Given the description of an element on the screen output the (x, y) to click on. 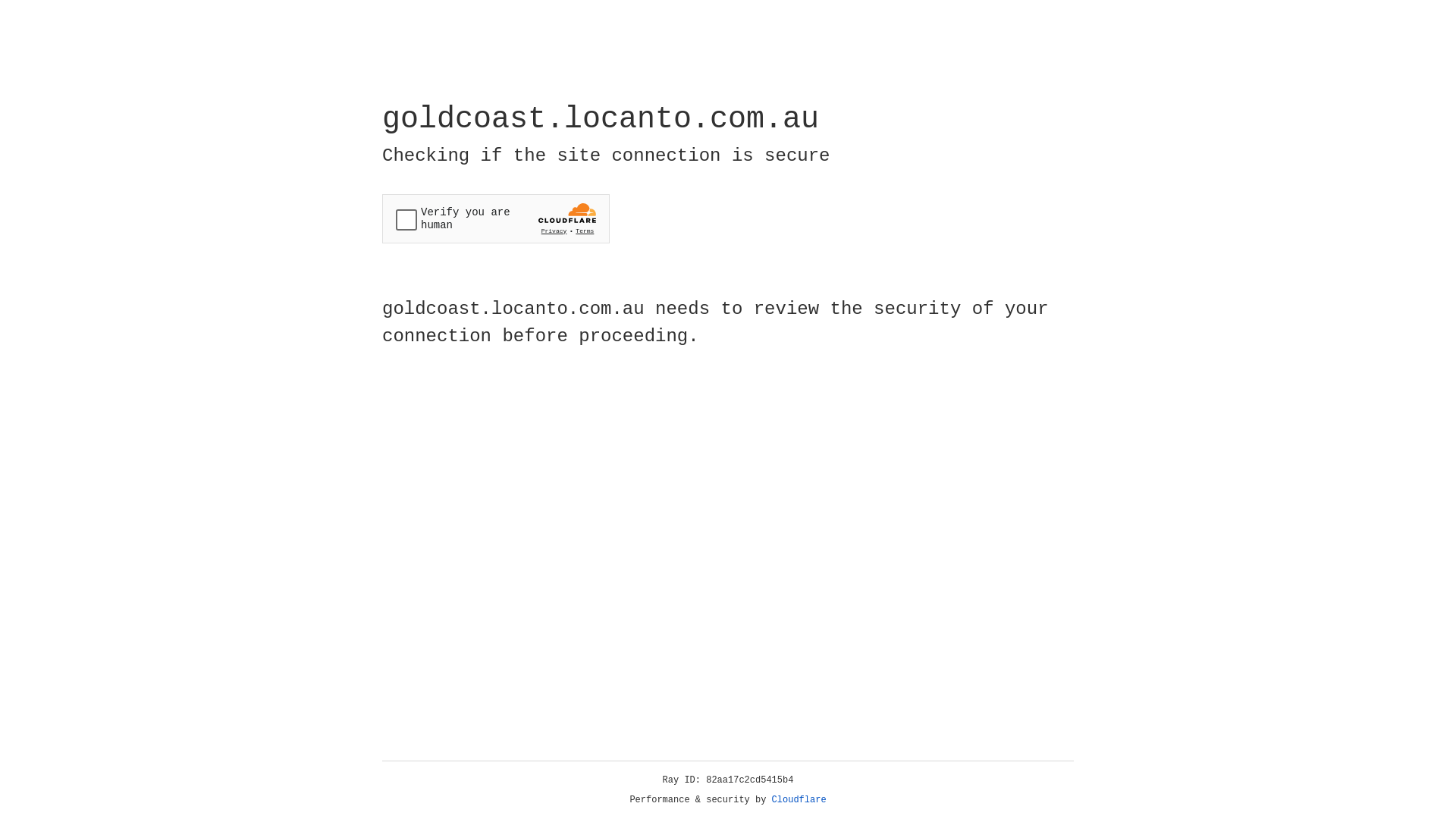
Widget containing a Cloudflare security challenge Element type: hover (495, 218)
Cloudflare Element type: text (798, 799)
